Given the description of an element on the screen output the (x, y) to click on. 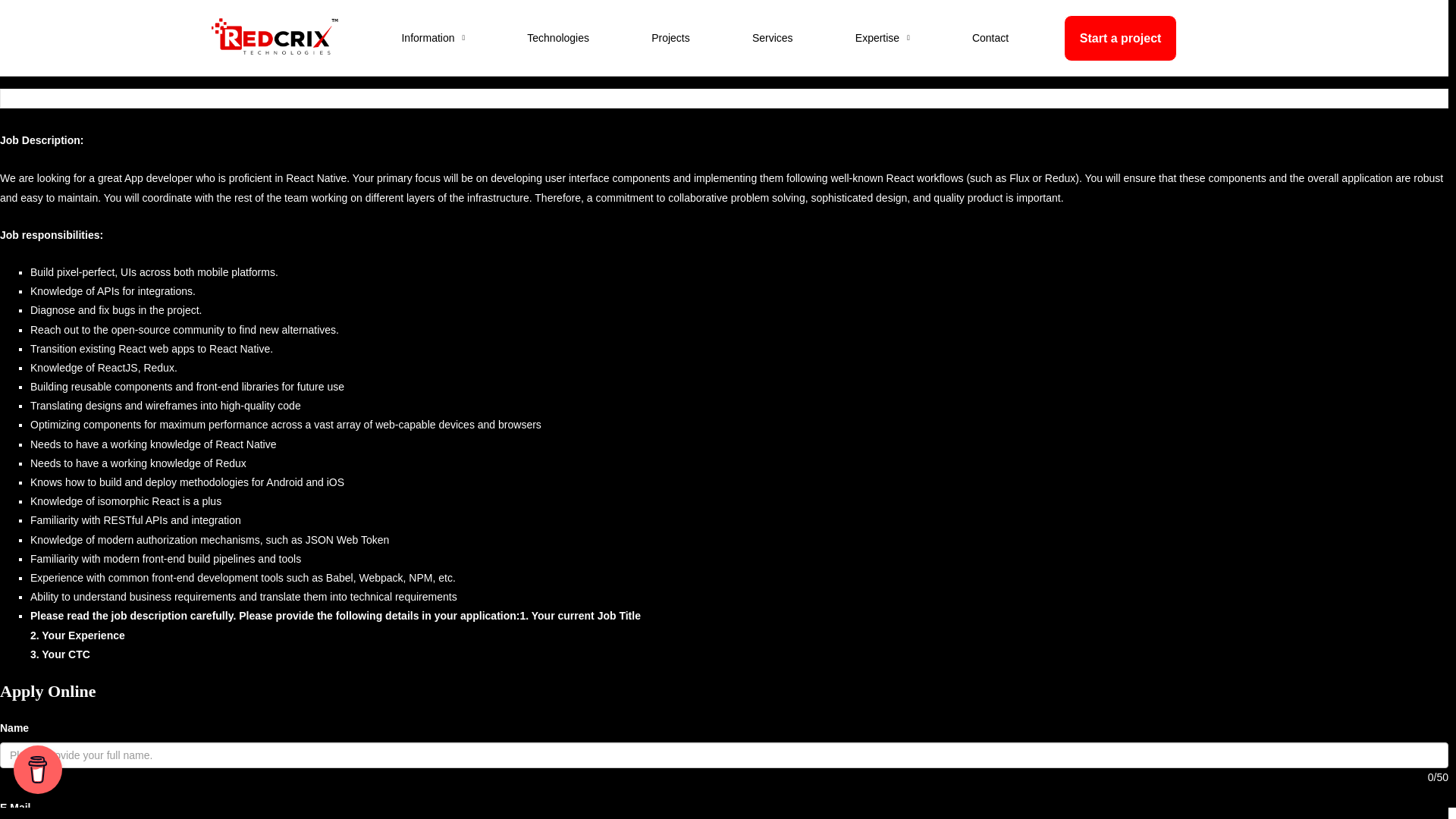
Contact (989, 38)
Expertise (882, 38)
Projects (670, 38)
Services (772, 38)
Information (432, 38)
Technologies (558, 38)
